Given the description of an element on the screen output the (x, y) to click on. 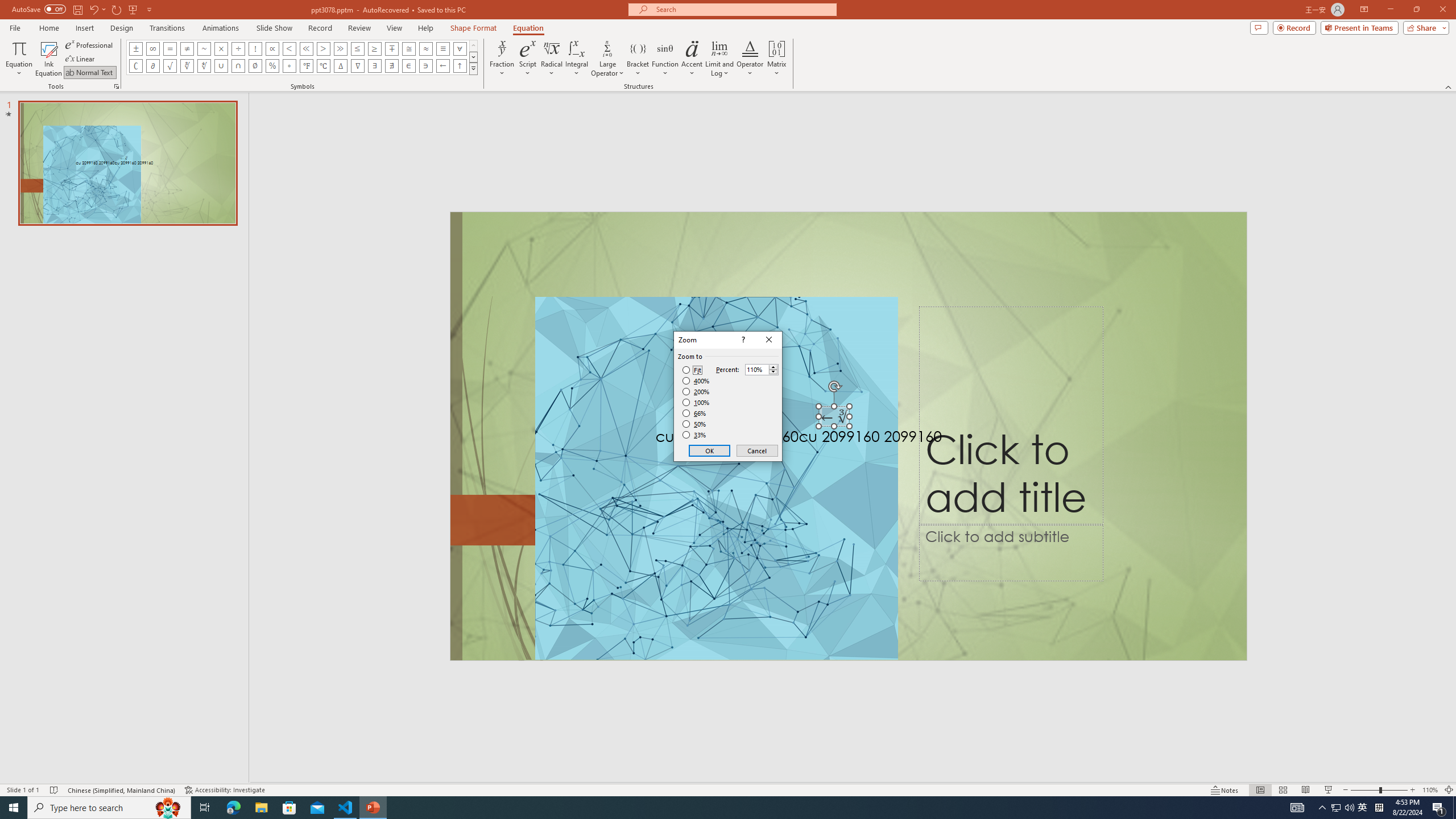
Equation Symbol Intersection (238, 65)
Matrix (776, 58)
Equation Symbol Infinity (152, 48)
Equation Symbol Minus Plus (391, 48)
Equation Symbol Plus Minus (136, 48)
Equation Symbol Division Sign (238, 48)
Equation Symbol There Exists (374, 65)
Equation Symbol There Does Not Exist (391, 65)
Equation Symbol Cube Root (187, 65)
